Given the description of an element on the screen output the (x, y) to click on. 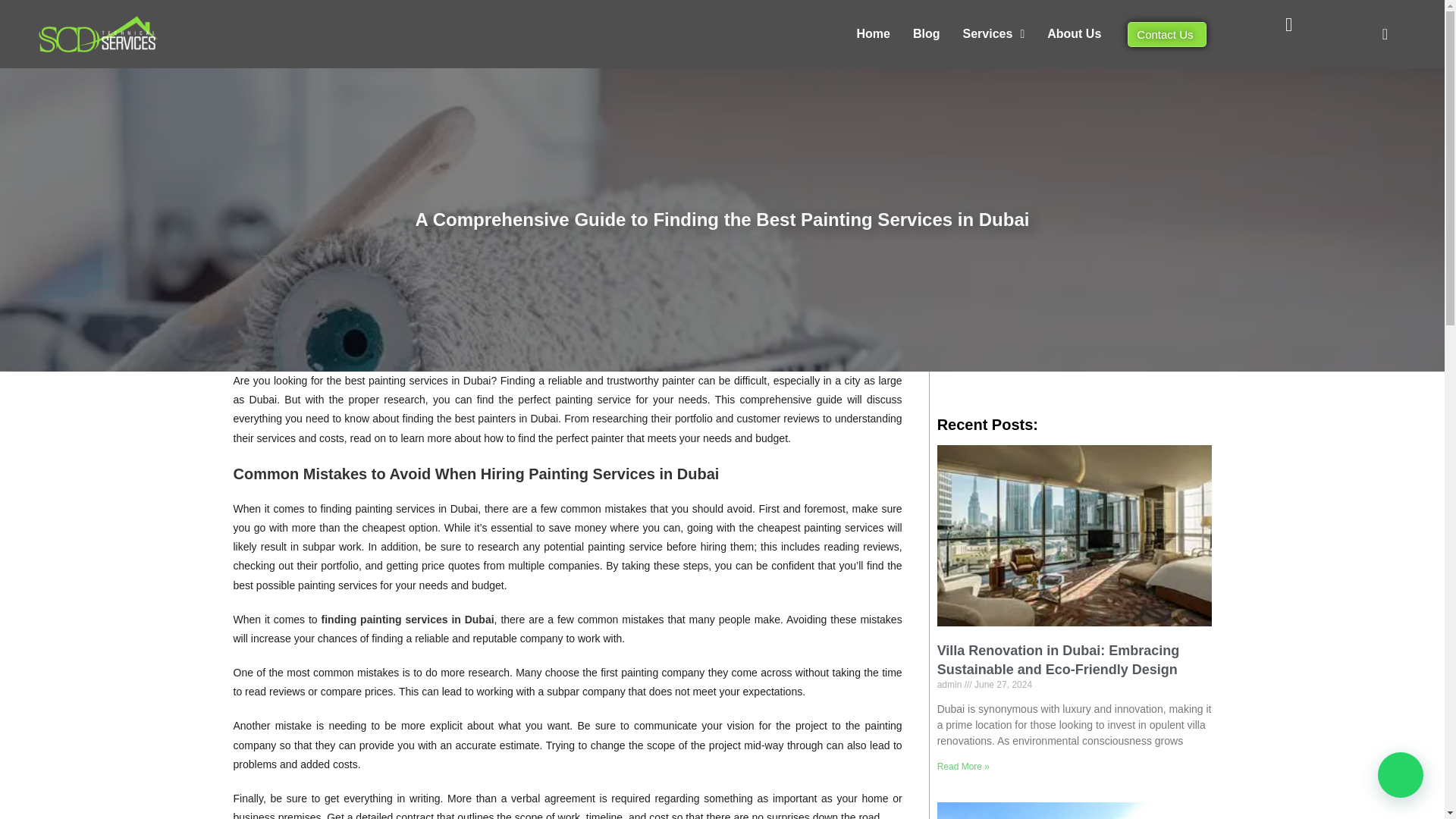
Contact Us (1165, 33)
Blog (926, 64)
Services (994, 63)
About Us (1073, 49)
finding painting services in Dubai (408, 619)
SCD Tech Logo (97, 32)
Home (873, 65)
